Given the description of an element on the screen output the (x, y) to click on. 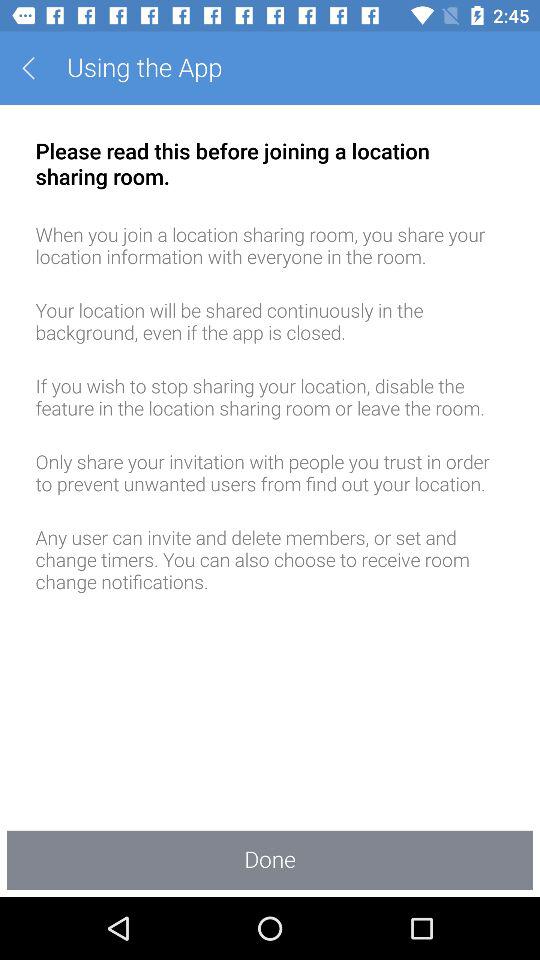
click done (269, 859)
